Given the description of an element on the screen output the (x, y) to click on. 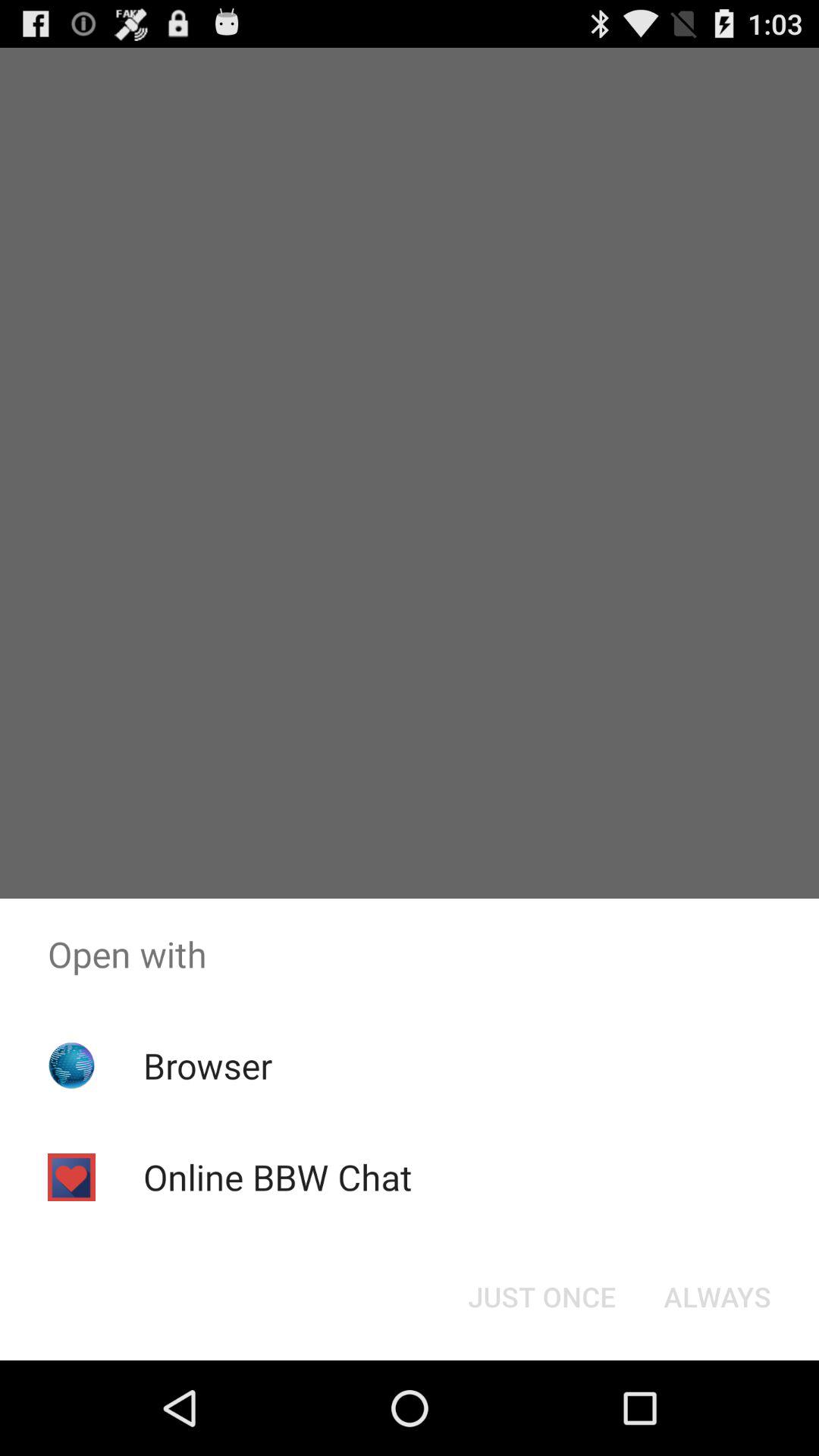
launch the item at the bottom right corner (717, 1296)
